Given the description of an element on the screen output the (x, y) to click on. 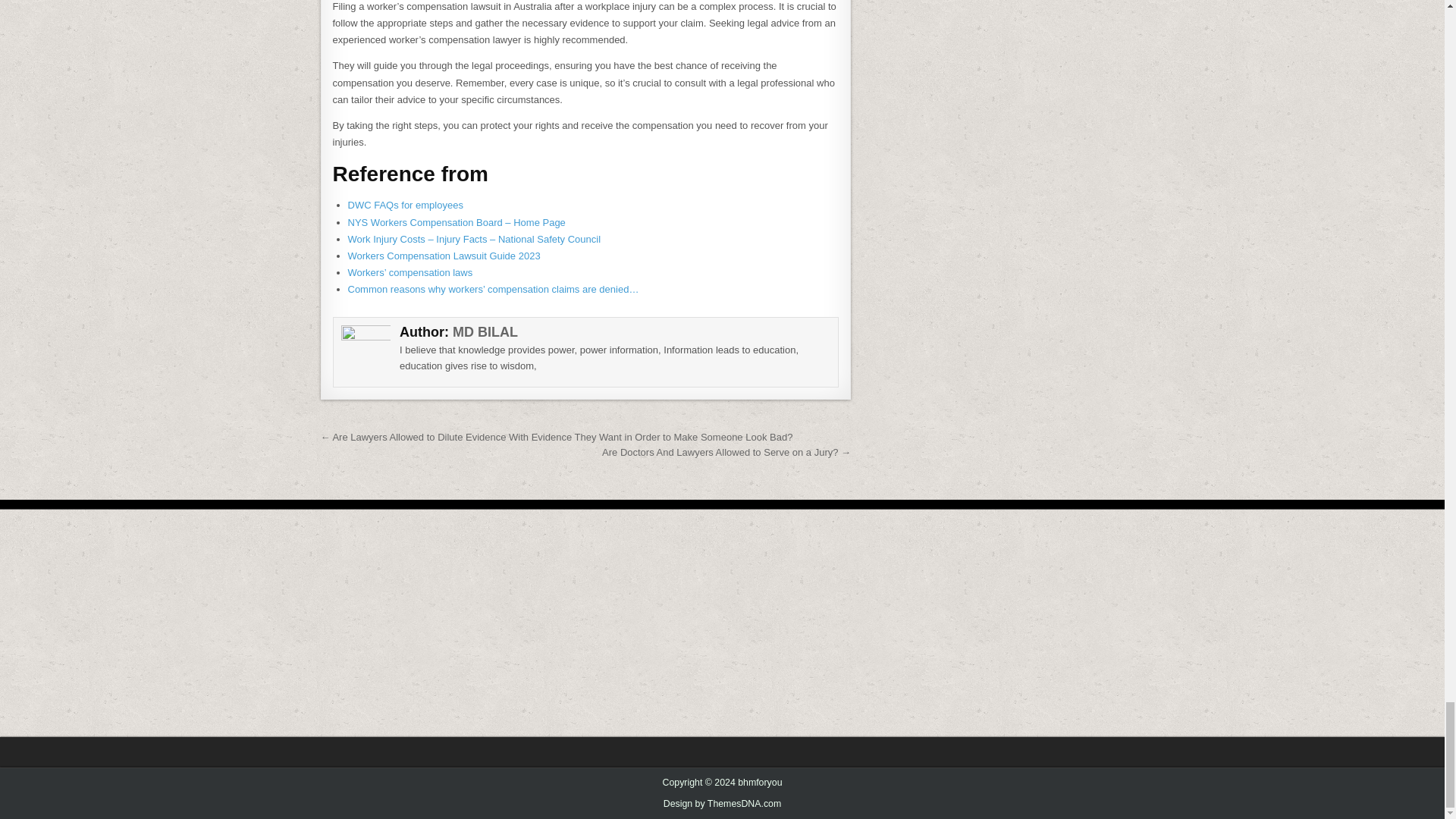
MD BILAL (485, 331)
Workers Compensation Lawsuit Guide 2023 (443, 255)
DWC FAQs for employees (405, 204)
Design by ThemesDNA.com (722, 803)
